Given the description of an element on the screen output the (x, y) to click on. 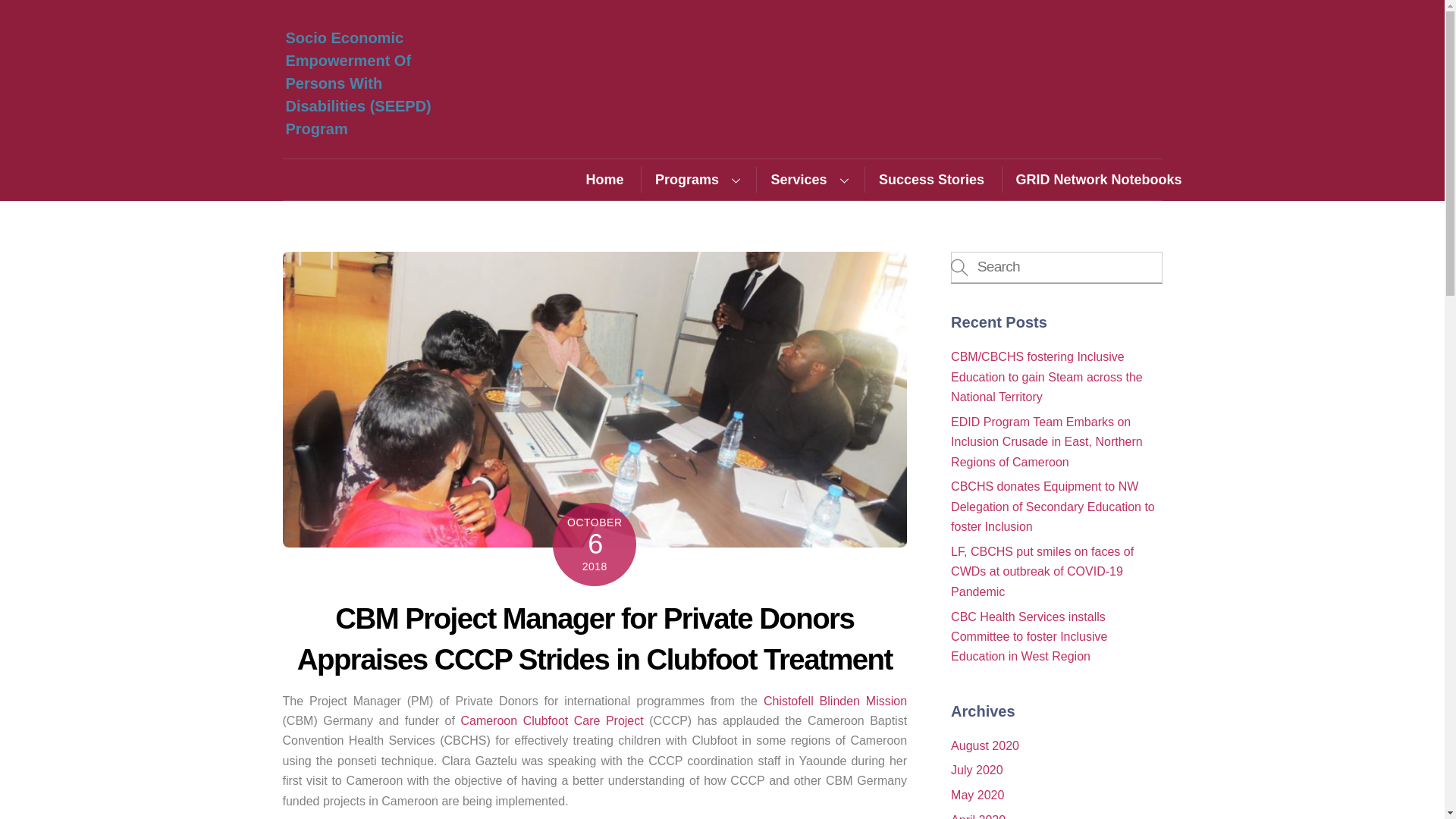
Chistofell Blinden Mission (834, 700)
Home (611, 179)
GRID Network Notebooks (1098, 179)
Programs (696, 179)
Success Stories (930, 179)
Search (1055, 266)
Cameroon Clubfoot Care Project (551, 720)
Services (807, 179)
